Given the description of an element on the screen output the (x, y) to click on. 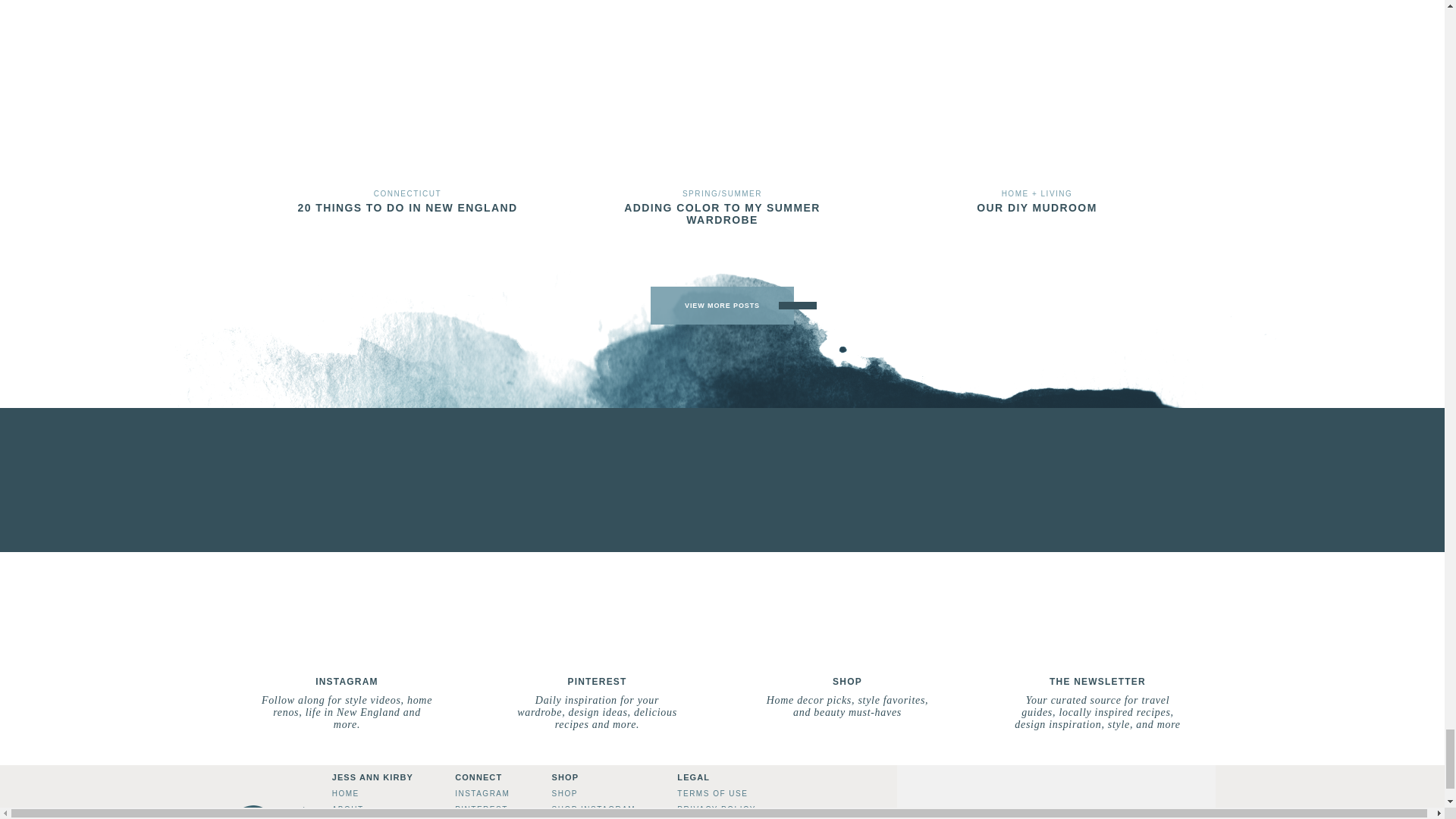
View all posts in Connecticut (407, 193)
